Given the description of an element on the screen output the (x, y) to click on. 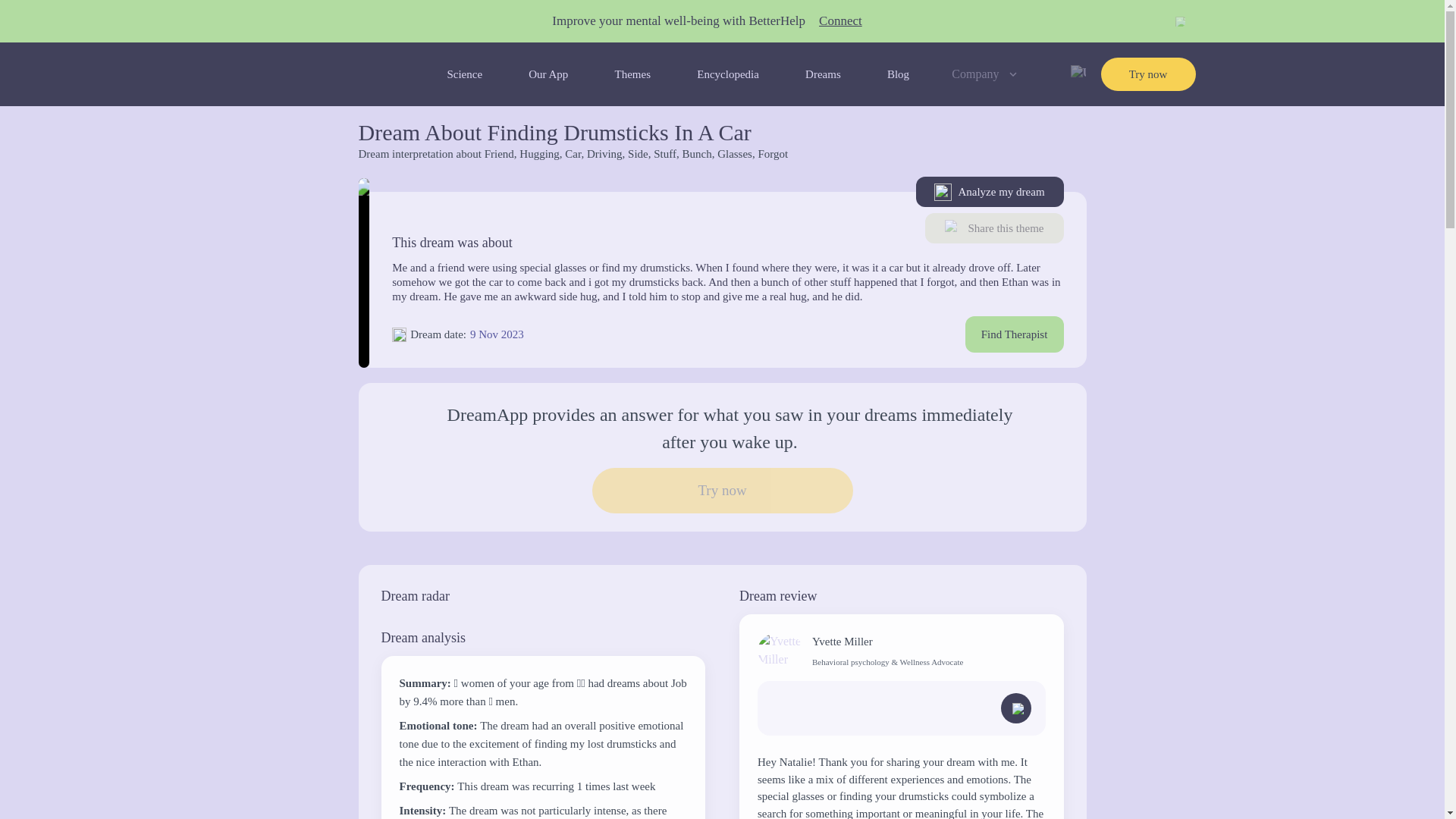
Connect (839, 21)
Try now (1147, 73)
Analyze my dream (989, 191)
Share this theme (994, 227)
Improve your mental well-being with BetterHelp (678, 21)
Dreams (823, 74)
Blog (897, 74)
Encyclopedia (727, 74)
Company (986, 73)
Themes (632, 74)
Our App (548, 74)
Science (464, 74)
